Given the description of an element on the screen output the (x, y) to click on. 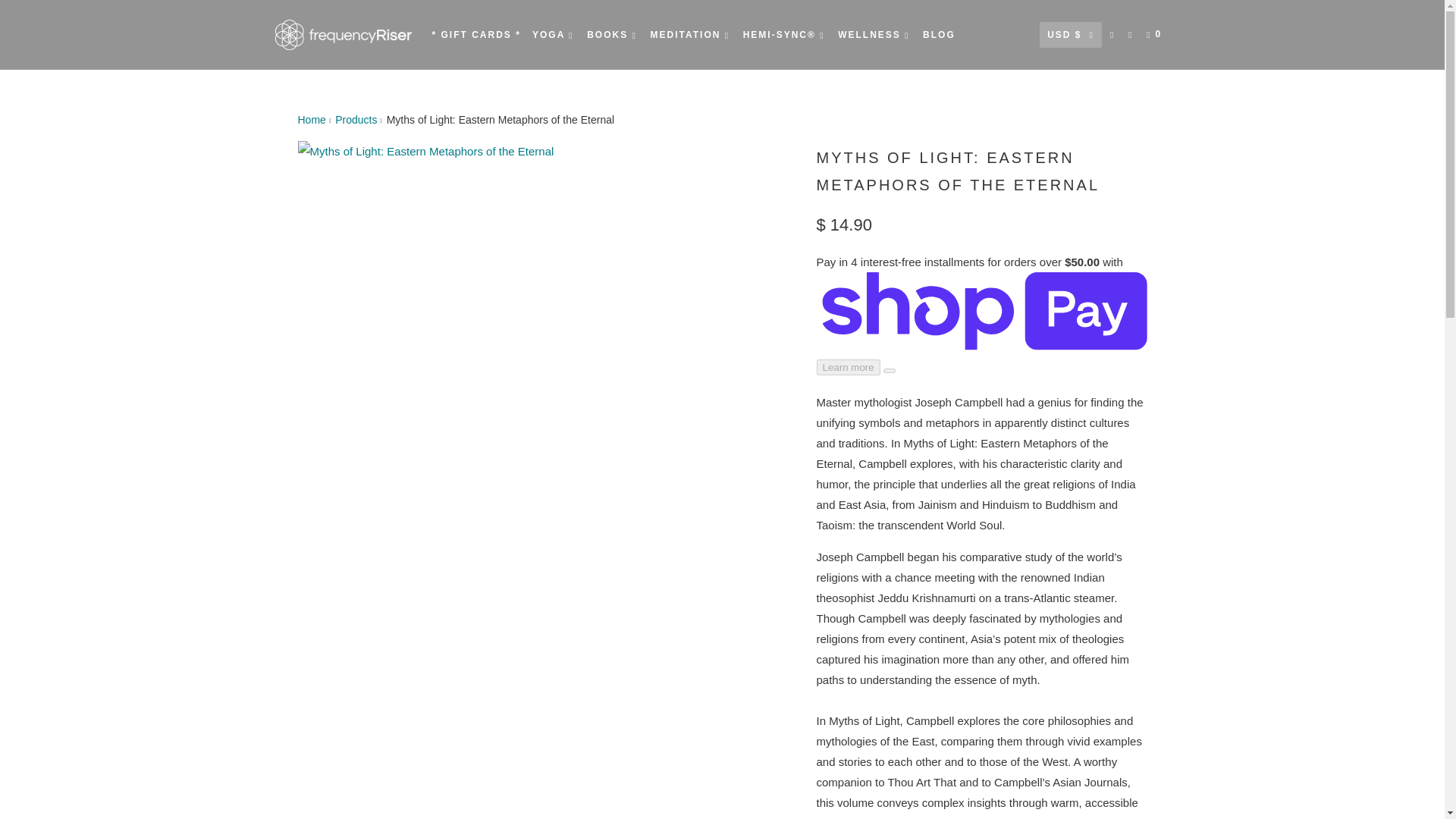
FrequencyRiser (310, 119)
Products (355, 119)
FrequencyRiser (342, 34)
